Given the description of an element on the screen output the (x, y) to click on. 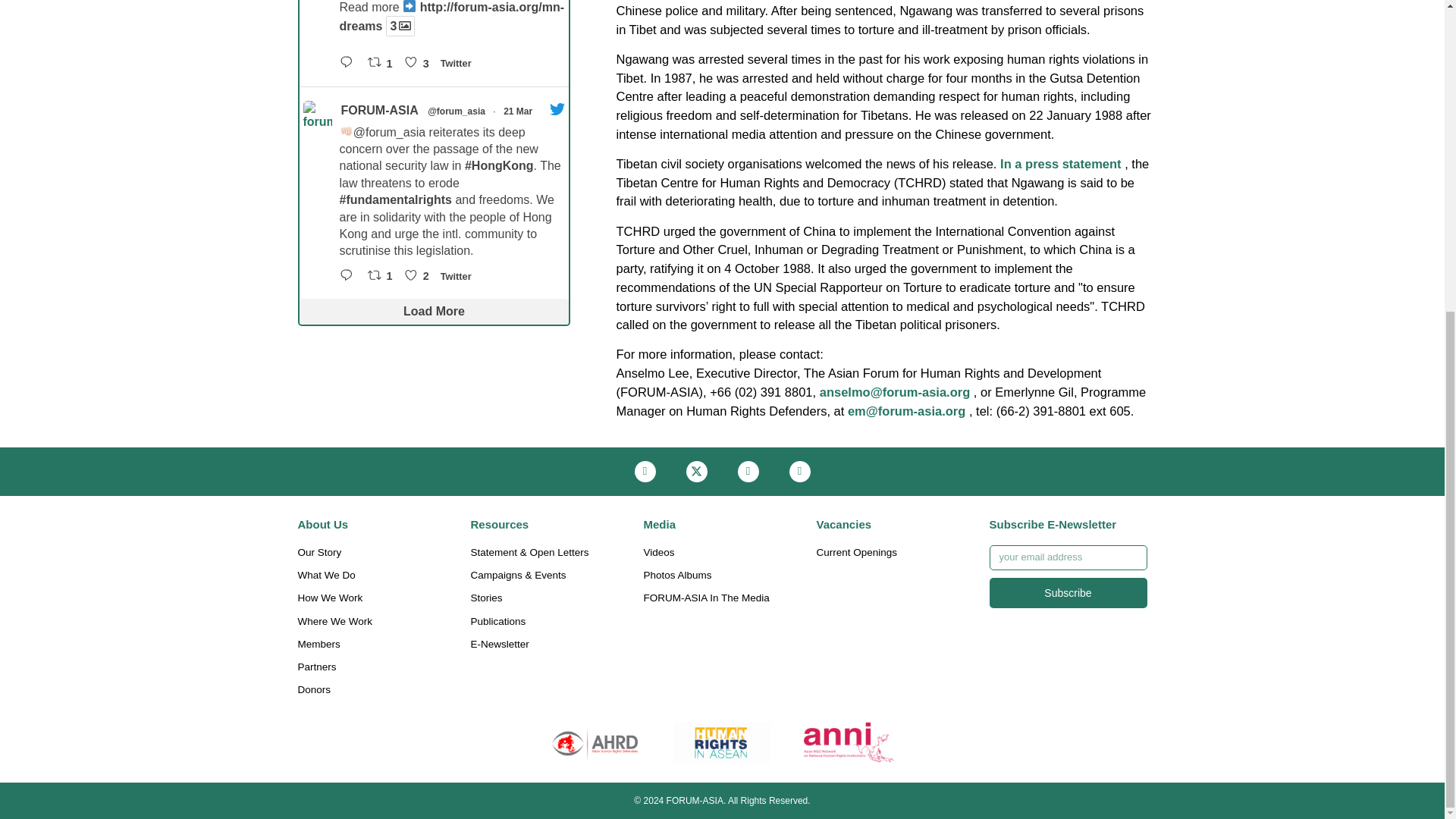
Default Title (595, 741)
Default Title (848, 741)
Default Title (722, 741)
